Given the description of an element on the screen output the (x, y) to click on. 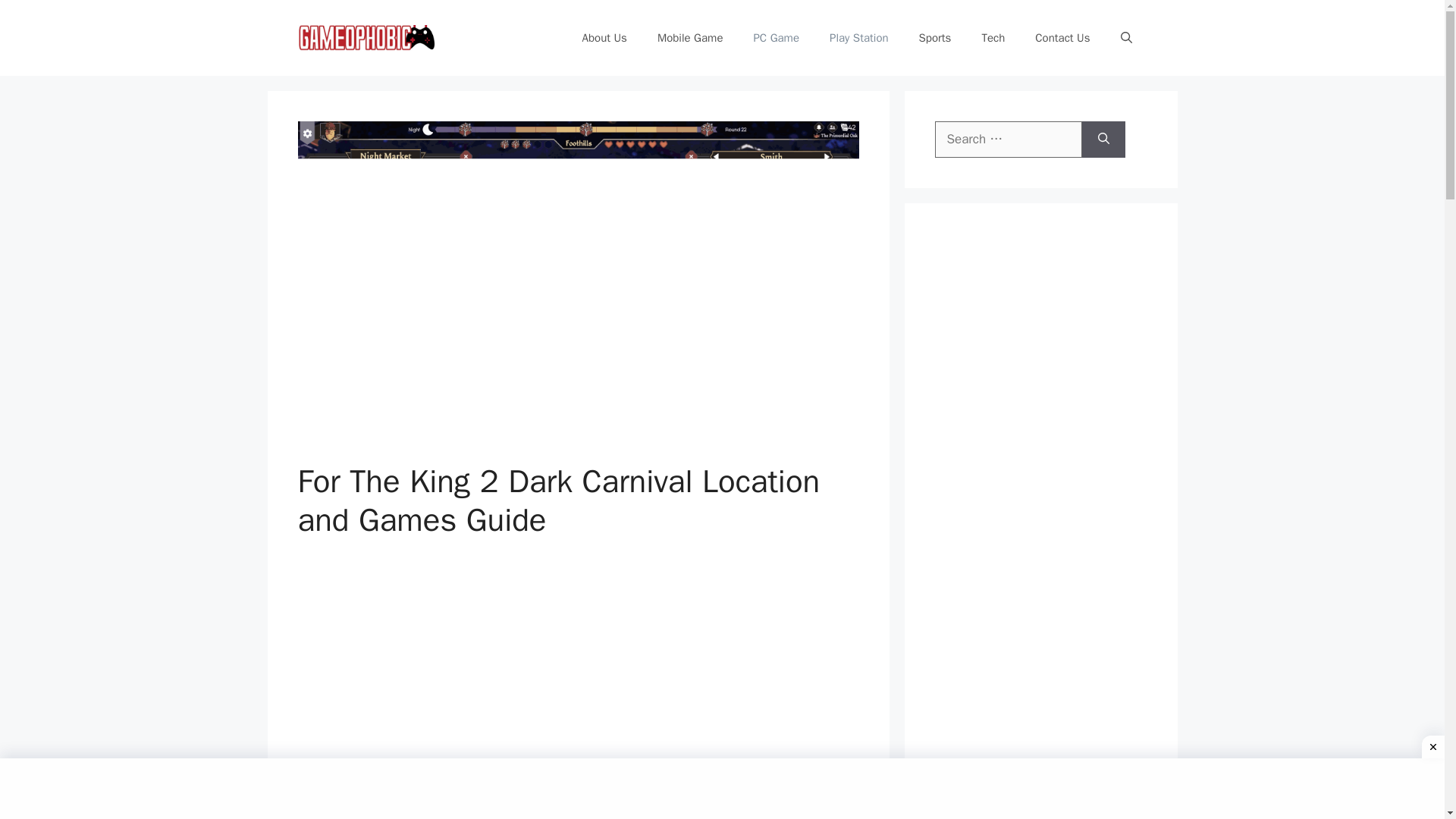
Tech (993, 37)
Advertisement (1047, 785)
Play Station (858, 37)
Sports (935, 37)
PC Game (775, 37)
Search for: (1007, 139)
About Us (604, 37)
Contact Us (1062, 37)
Advertisement (578, 671)
Mobile Game (690, 37)
